Given the description of an element on the screen output the (x, y) to click on. 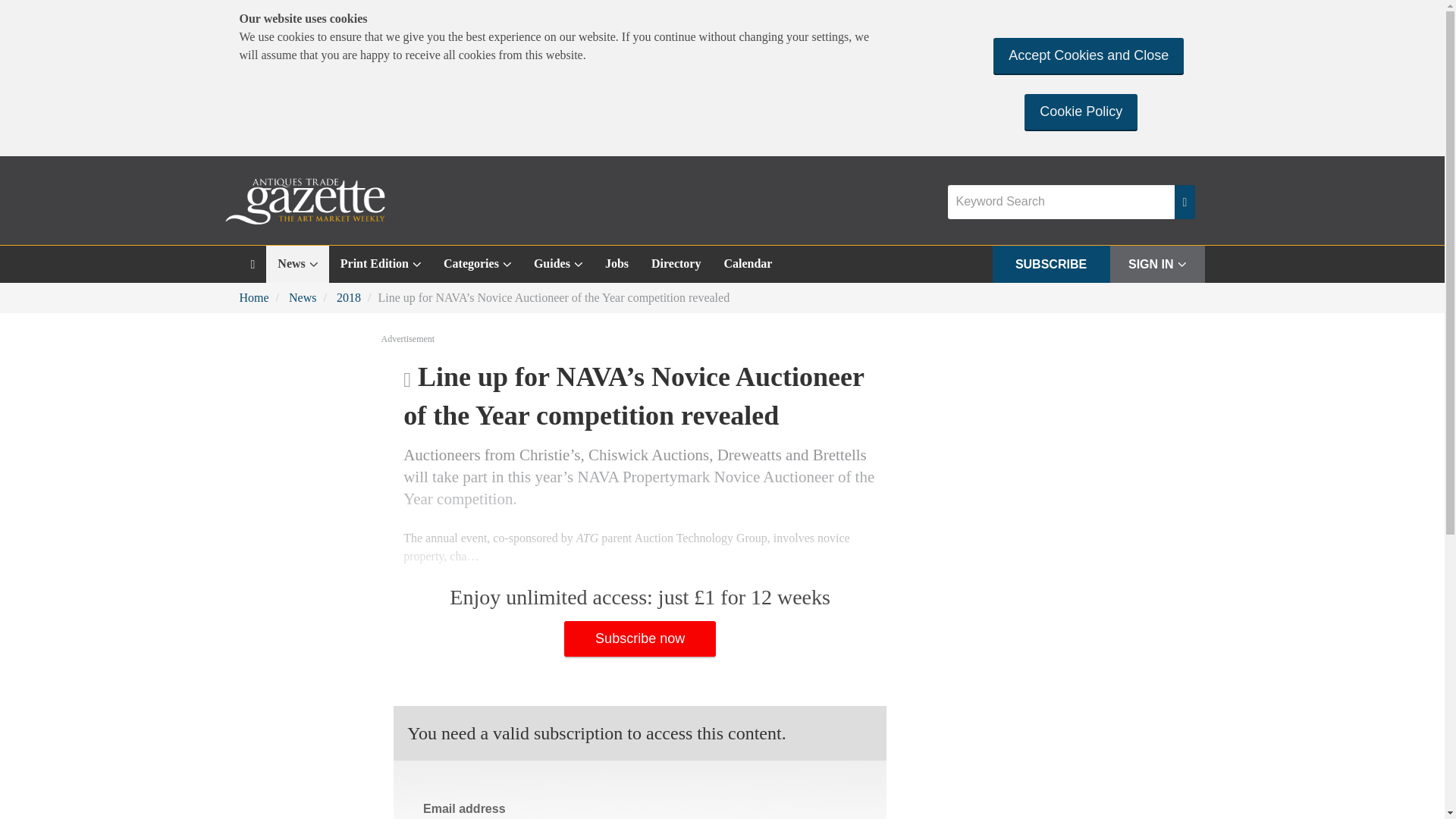
News (297, 263)
Keyword Search (1060, 202)
Cookie Policy (1081, 111)
